Given the description of an element on the screen output the (x, y) to click on. 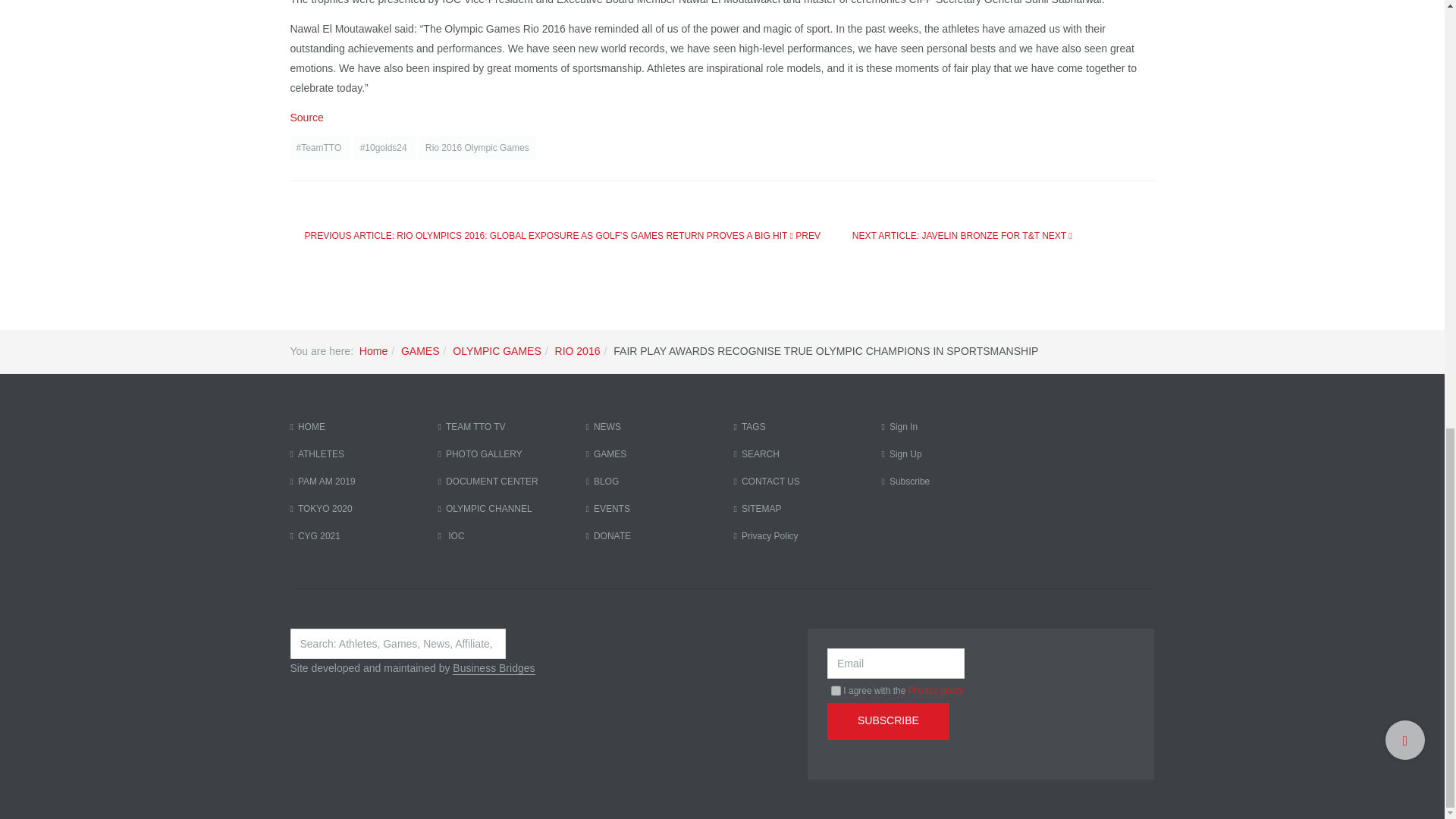
Subscribe (888, 721)
Terms and conditions (836, 690)
Business Bridges (493, 667)
on (836, 690)
